Given the description of an element on the screen output the (x, y) to click on. 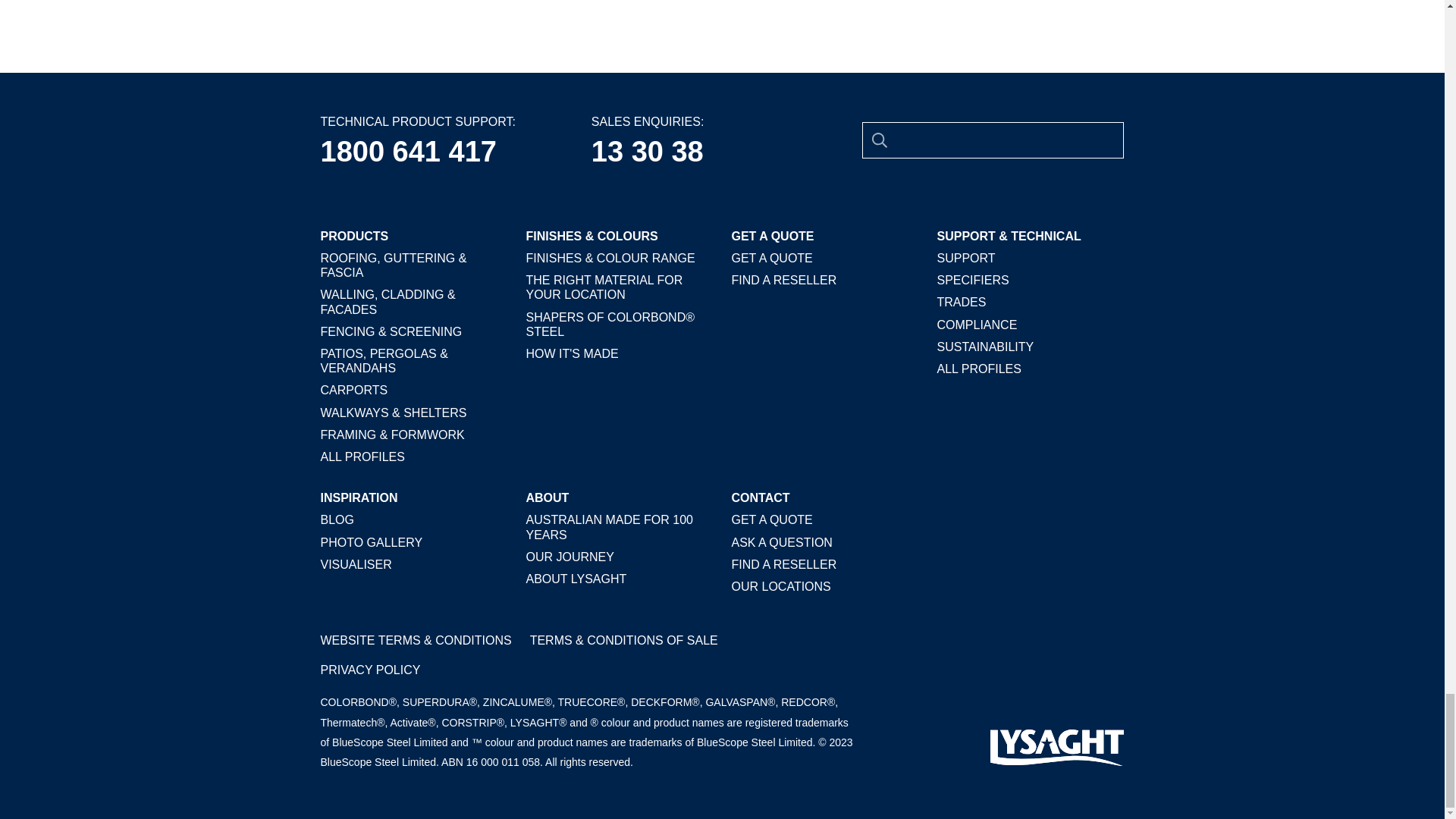
Search (878, 140)
